Given the description of an element on the screen output the (x, y) to click on. 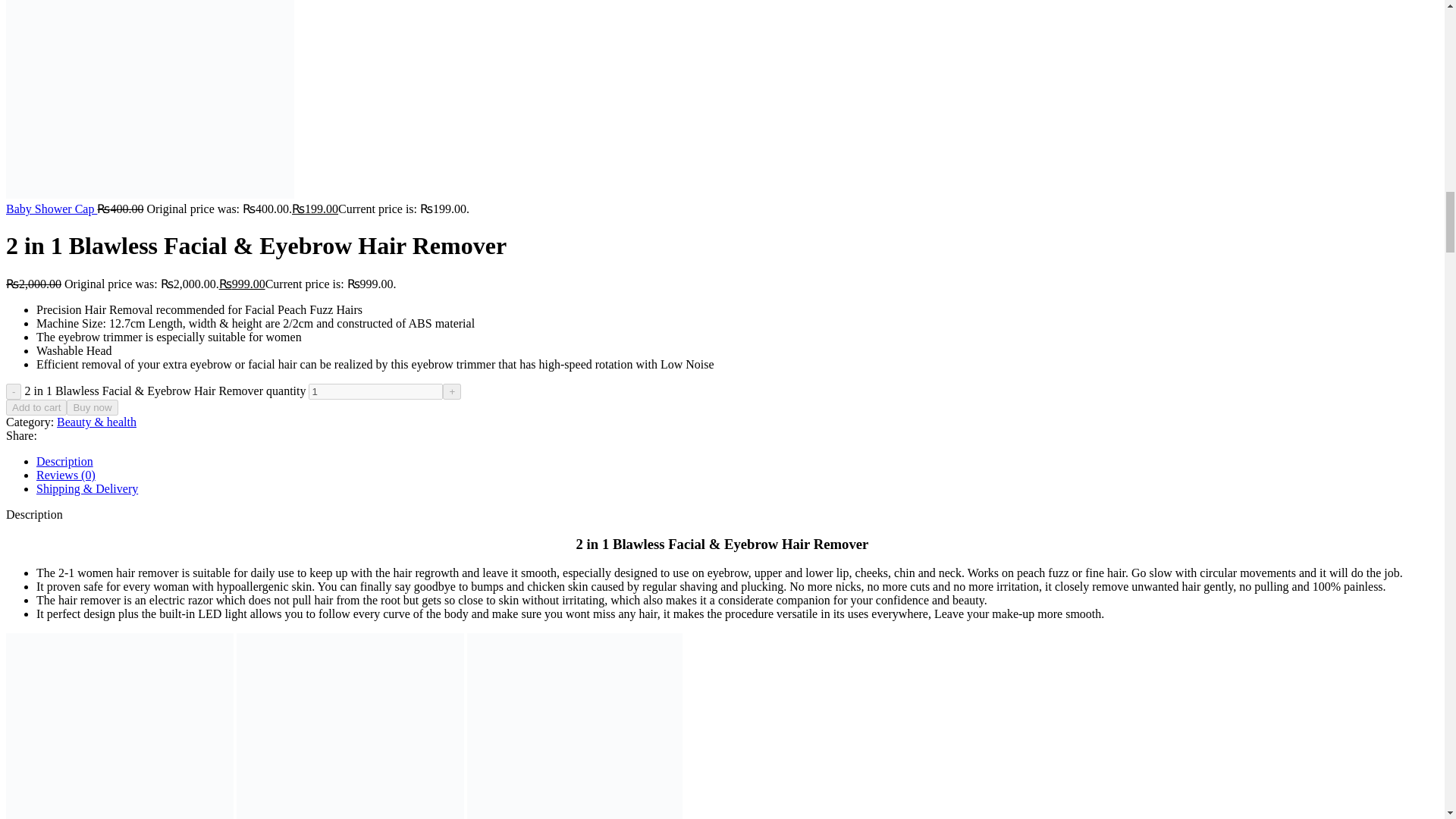
- (13, 391)
1 (375, 391)
